Given the description of an element on the screen output the (x, y) to click on. 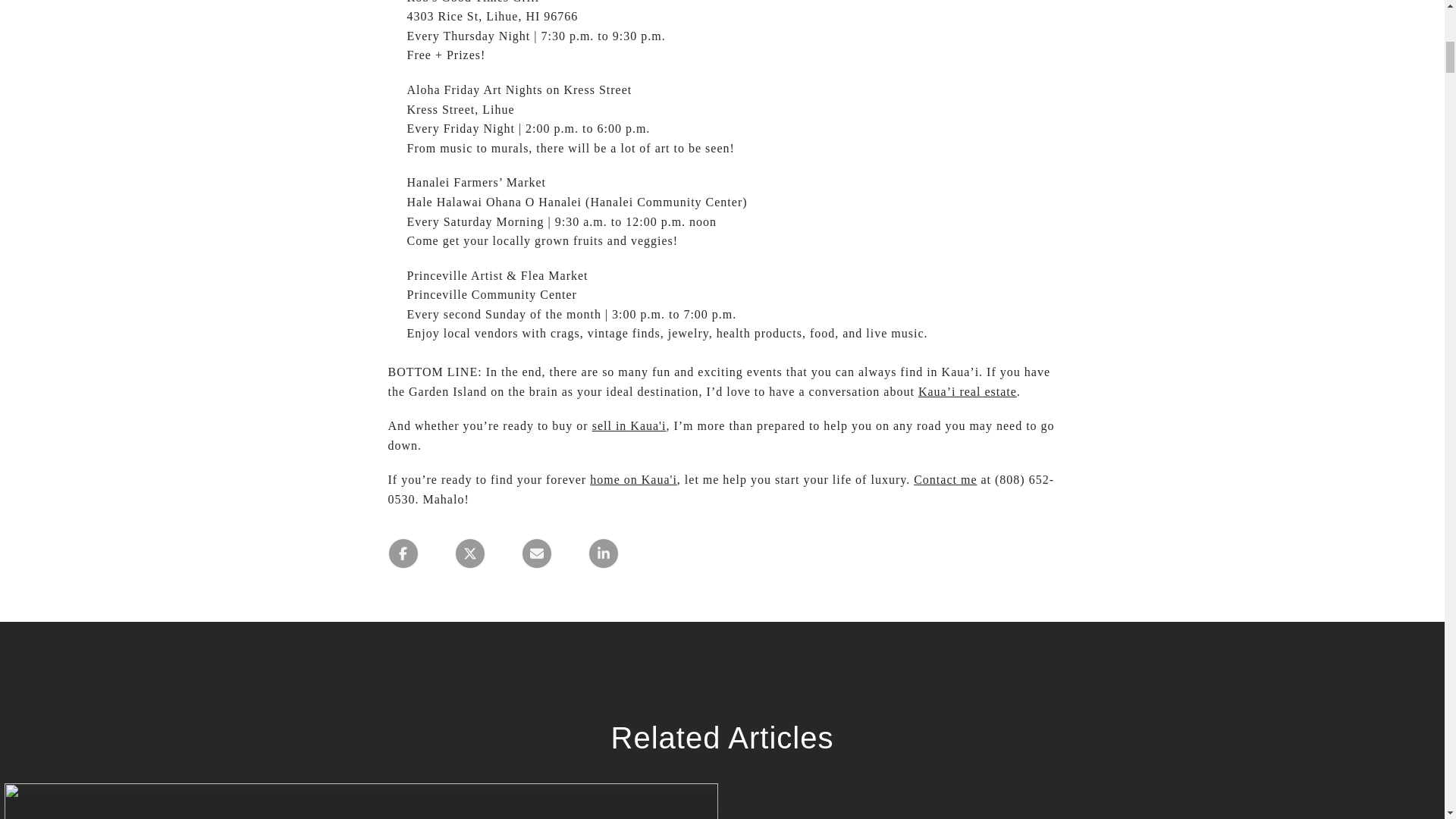
home on Kaua'i (633, 479)
sell in Kaua'i (629, 425)
Contact me (945, 479)
